Given the description of an element on the screen output the (x, y) to click on. 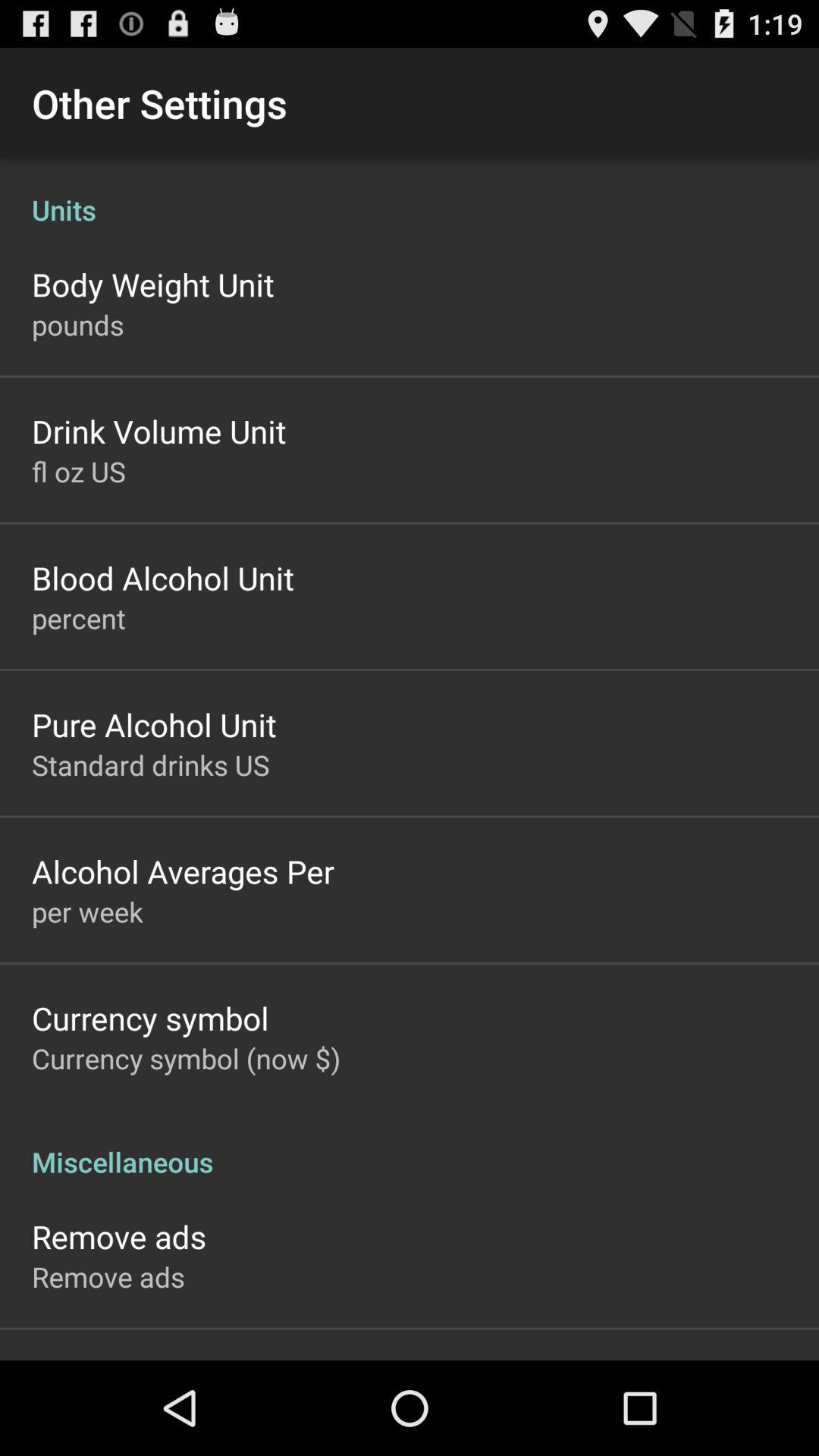
open the app below drink volume unit (78, 471)
